Given the description of an element on the screen output the (x, y) to click on. 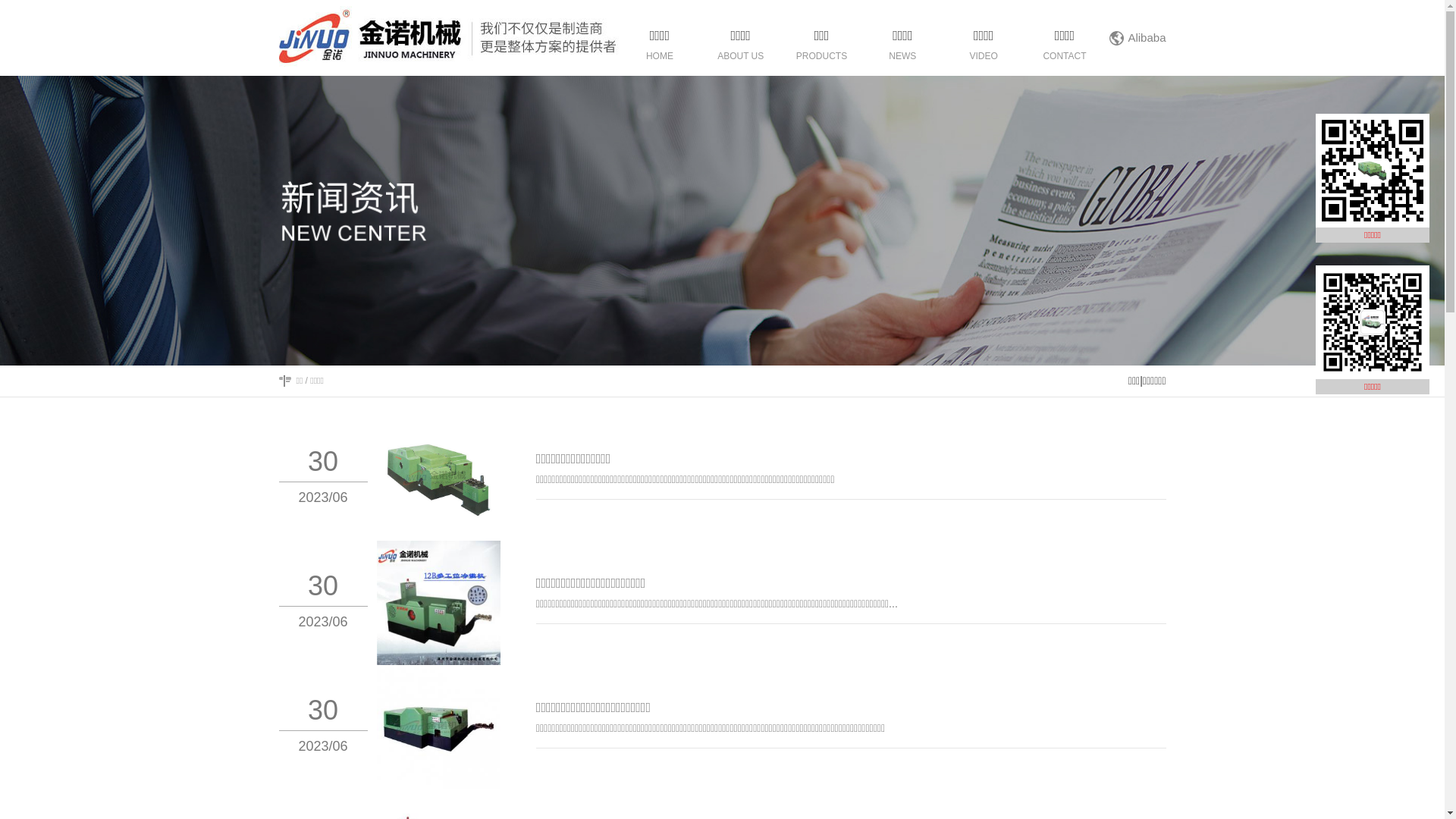
Alibaba Element type: text (1146, 37)
